Given the description of an element on the screen output the (x, y) to click on. 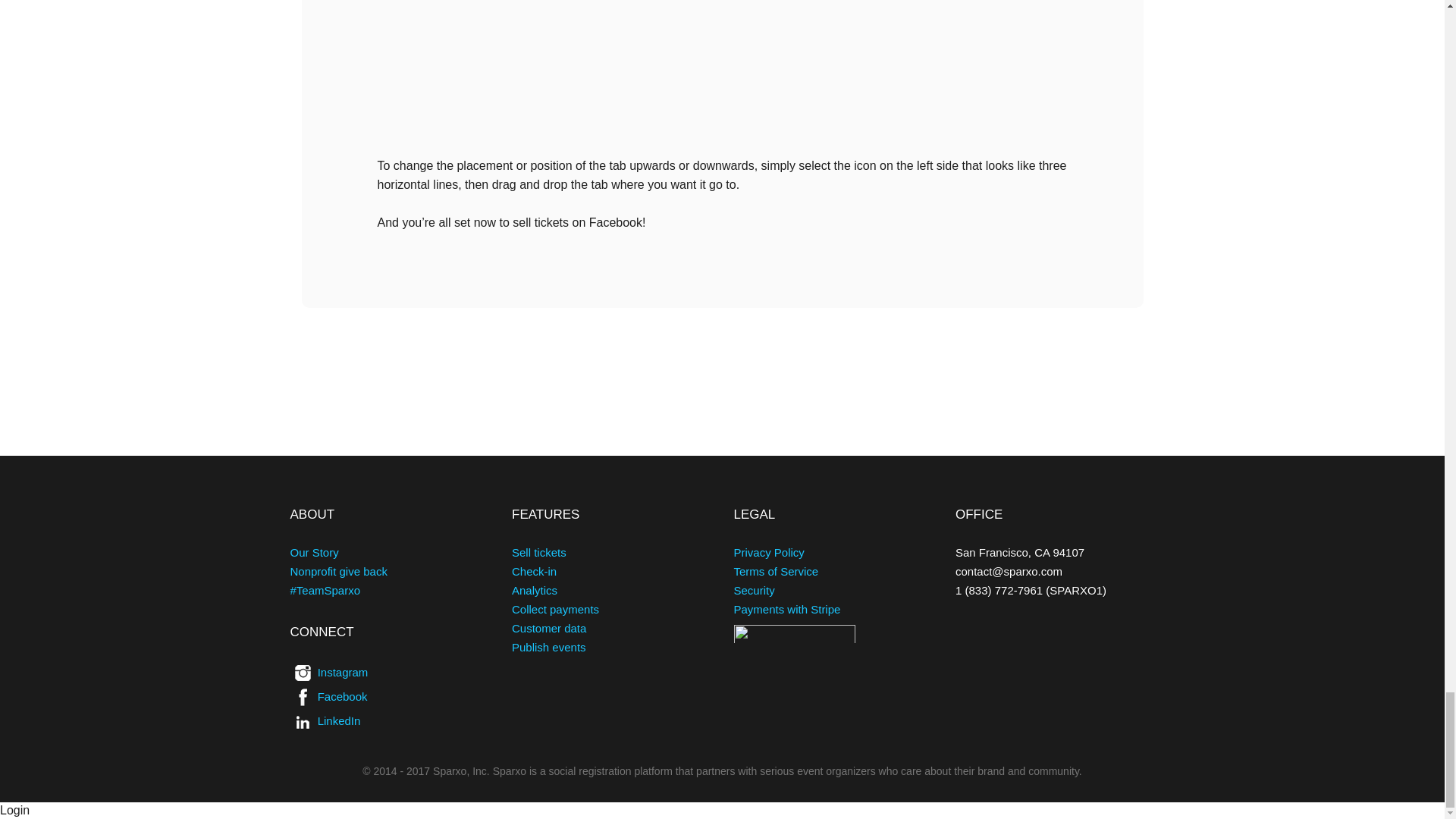
Instagram (342, 671)
Collect payments (555, 608)
Nonprofit give back (338, 571)
Payments with Stripe (787, 608)
Publish events (549, 656)
Security (753, 590)
Terms of Service (775, 571)
LinkedIn (339, 720)
Customer data (549, 627)
Sell tickets (539, 552)
